Given the description of an element on the screen output the (x, y) to click on. 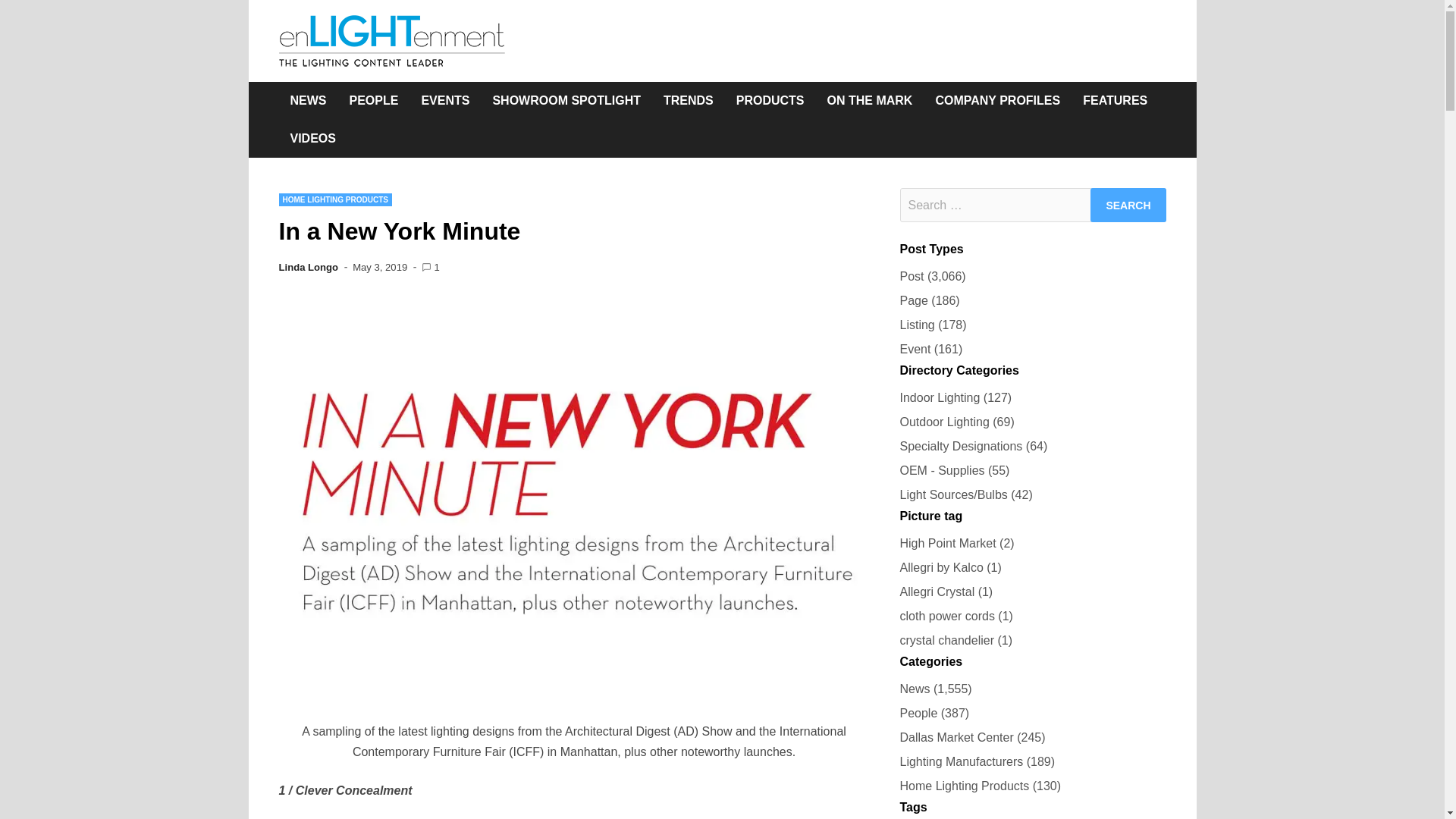
COMPANY PROFILES (997, 100)
HOME LIGHTING PRODUCTS (335, 199)
TRENDS (688, 100)
VIDEOS (313, 138)
Linda Longo (309, 266)
SHOWROOM SPOTLIGHT (566, 100)
Search (1128, 204)
EVENTS (444, 100)
NEWS (308, 100)
ON THE MARK (869, 100)
